Given the description of an element on the screen output the (x, y) to click on. 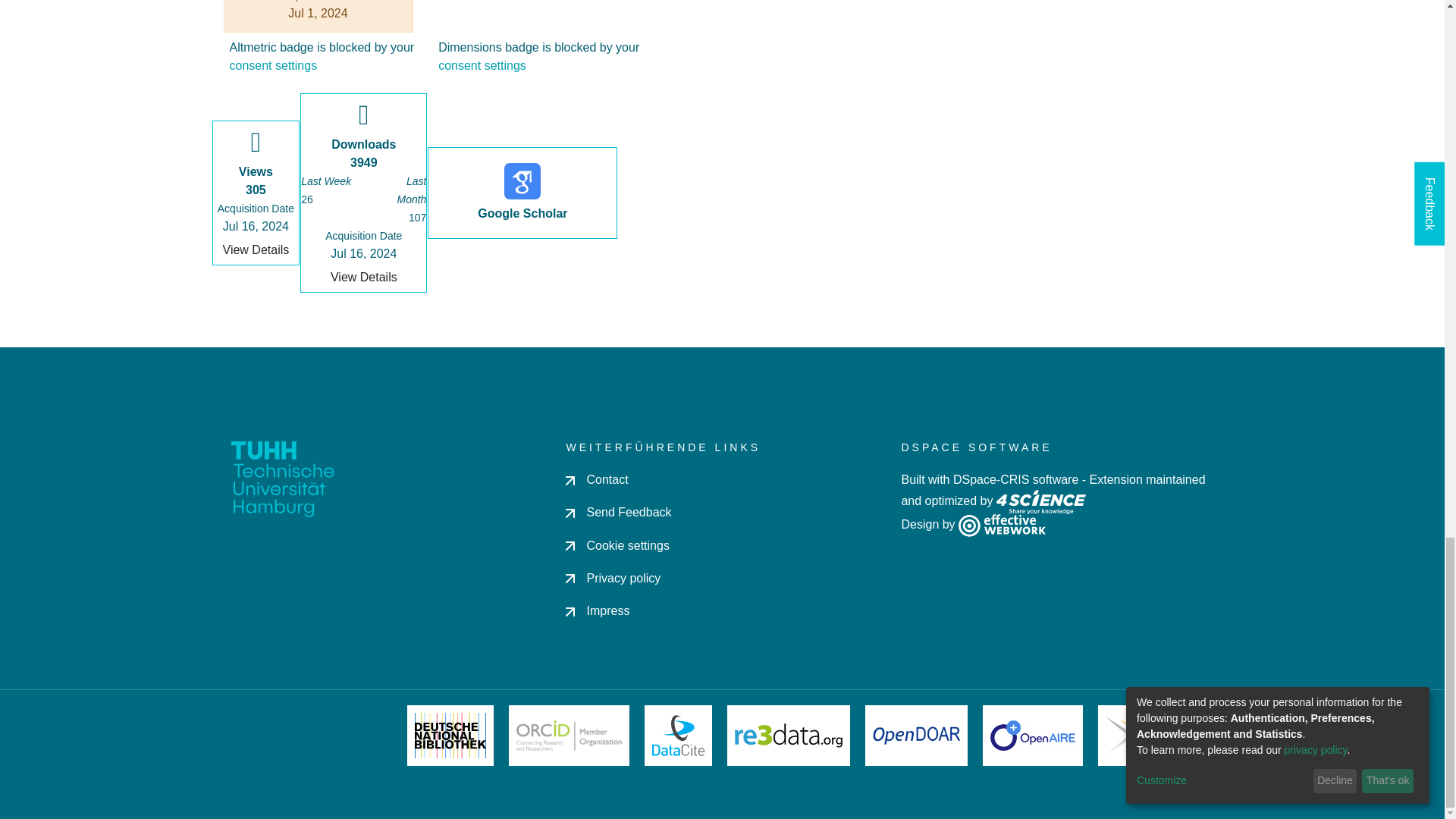
effective webwork GmbH Hamburg (1001, 524)
